Given the description of an element on the screen output the (x, y) to click on. 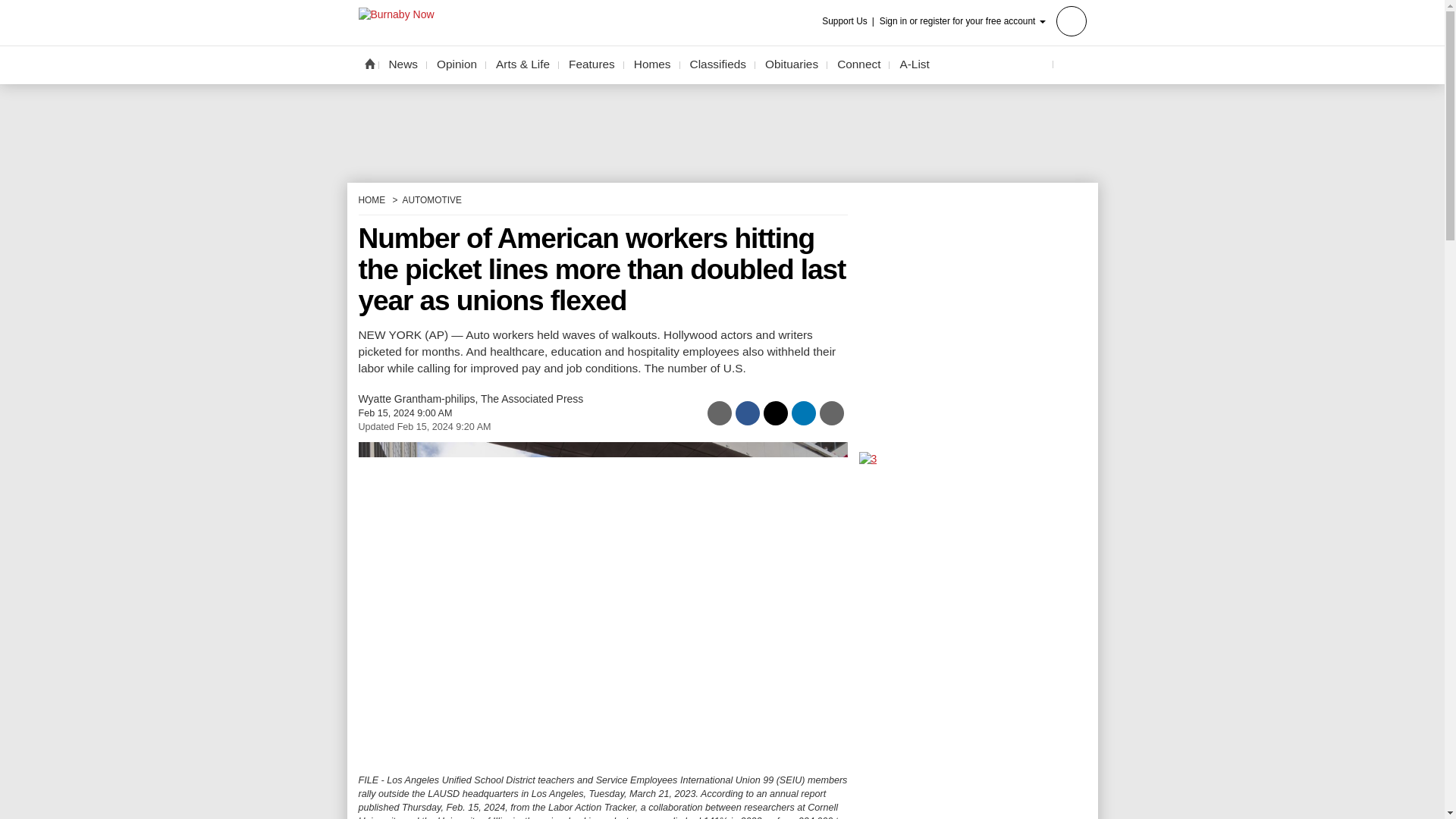
News (403, 64)
Home (368, 63)
Support Us (849, 21)
Opinion (456, 64)
Sign in or register for your free account (982, 20)
